Given the description of an element on the screen output the (x, y) to click on. 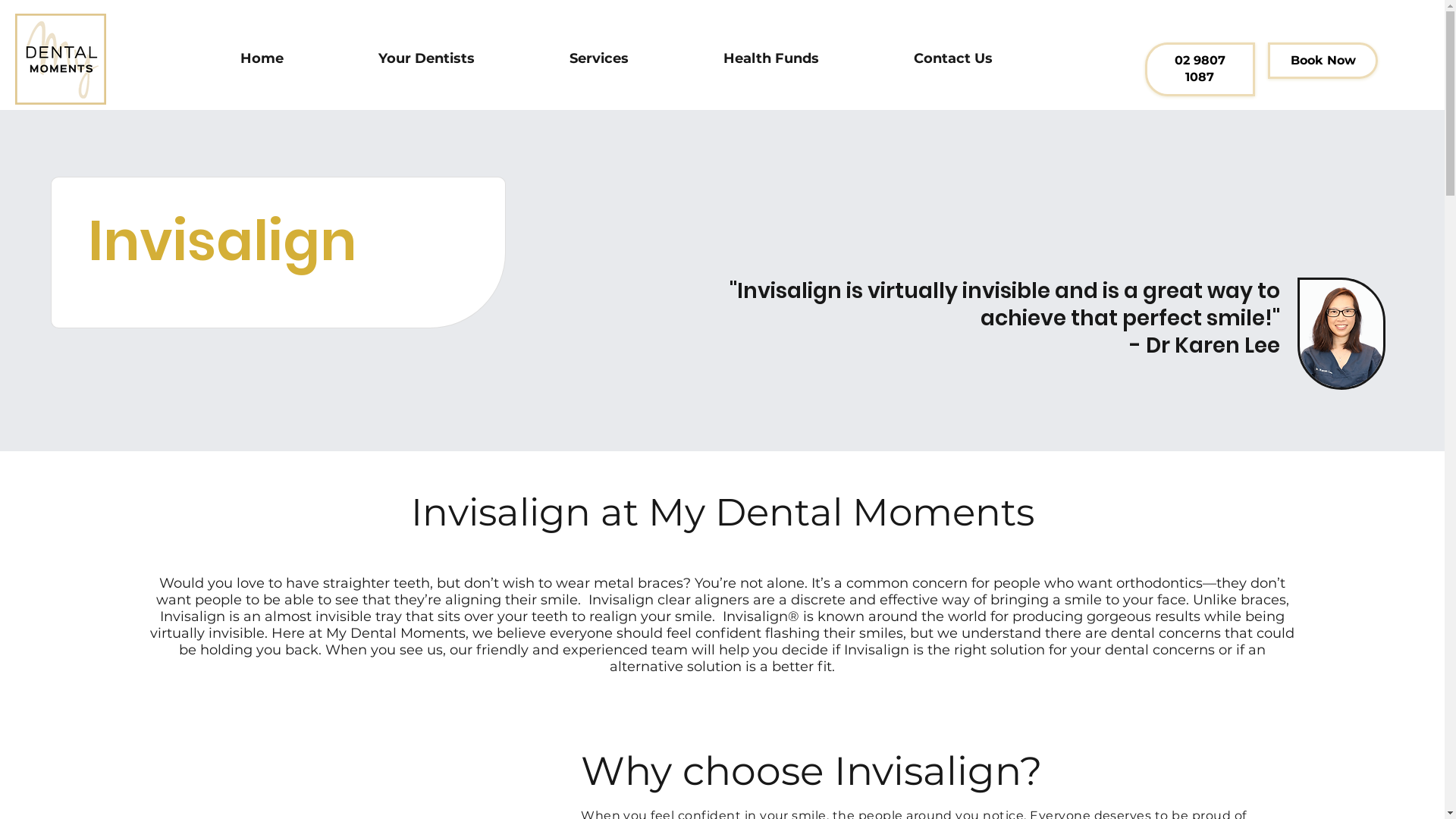
02 9807 1087 Element type: text (1200, 69)
Home Element type: text (262, 58)
Contact Us Element type: text (953, 58)
Book Now Element type: text (1322, 60)
Health Funds Element type: text (771, 58)
Your Dentists Element type: text (426, 58)
